Given the description of an element on the screen output the (x, y) to click on. 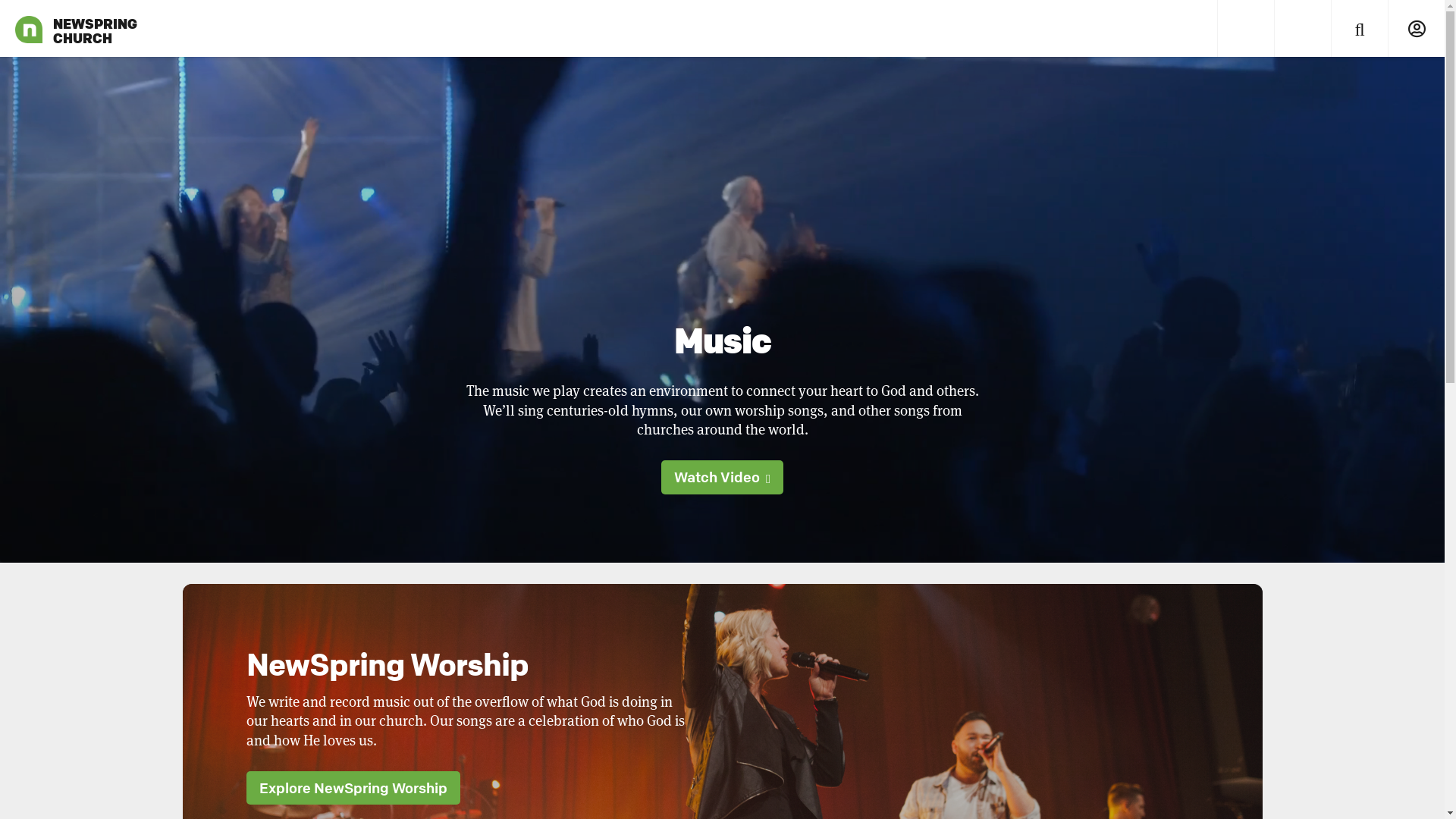
Locations Element type: hover (1302, 28)
Menu Element type: hover (1245, 28)
Search Element type: hover (1358, 28)
Sign In Element type: hover (1415, 28)
Watch Video   Element type: text (722, 476)
NEWSPRING CHURCH Element type: text (28, 28)
Explore NewSpring Worship Element type: text (352, 787)
